Given the description of an element on the screen output the (x, y) to click on. 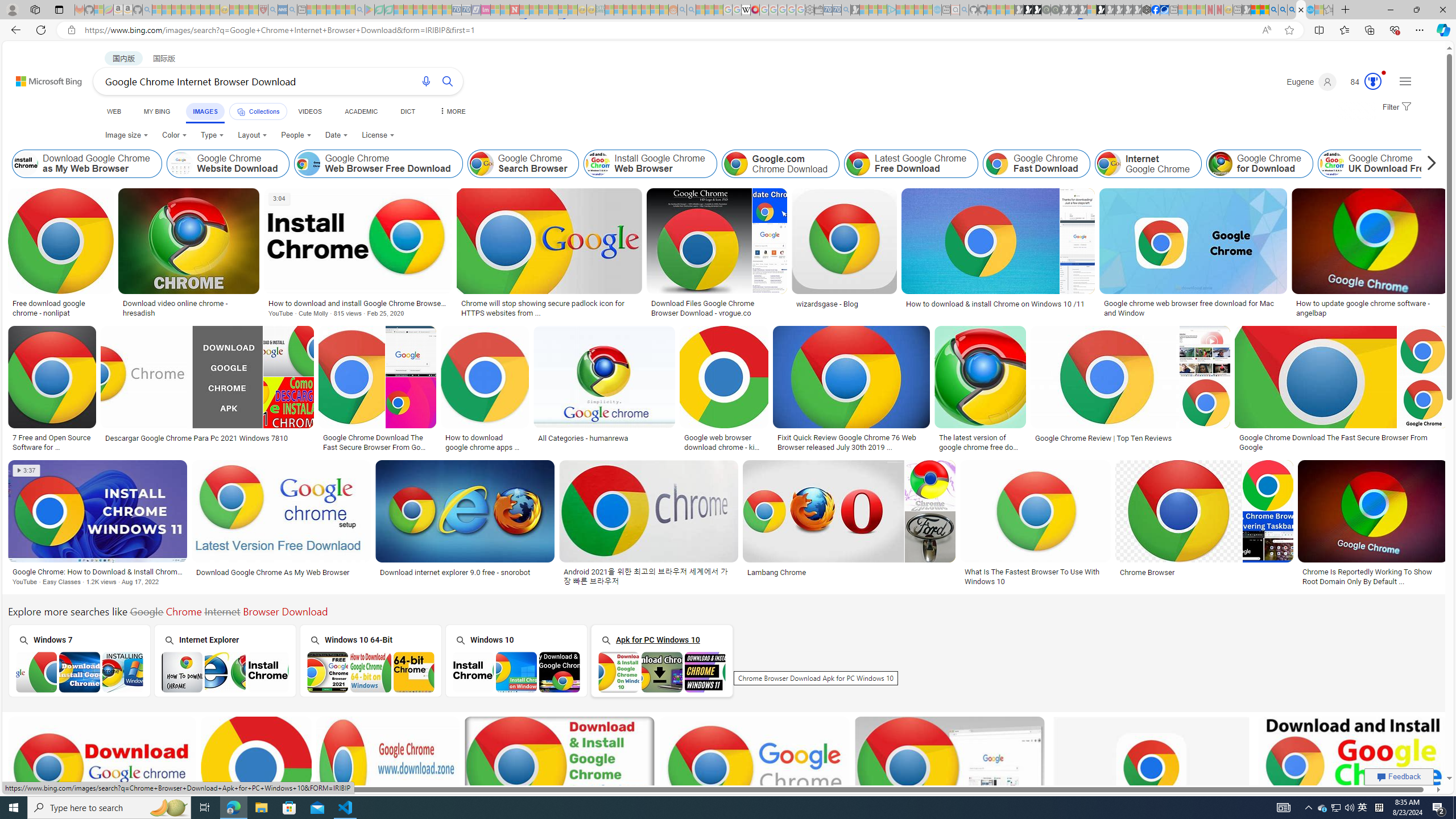
The Weather Channel - MSN - Sleeping (175, 9)
NCL Adult Asthma Inhaler Choice Guideline - Sleeping (282, 9)
list of asthma inhalers uk - Search - Sleeping (272, 9)
Google.com Chrome Download (781, 163)
IMAGES (205, 112)
Download Google Chrome As My Web BrowserSave (283, 524)
MSN - Sleeping (1246, 9)
